Given the description of an element on the screen output the (x, y) to click on. 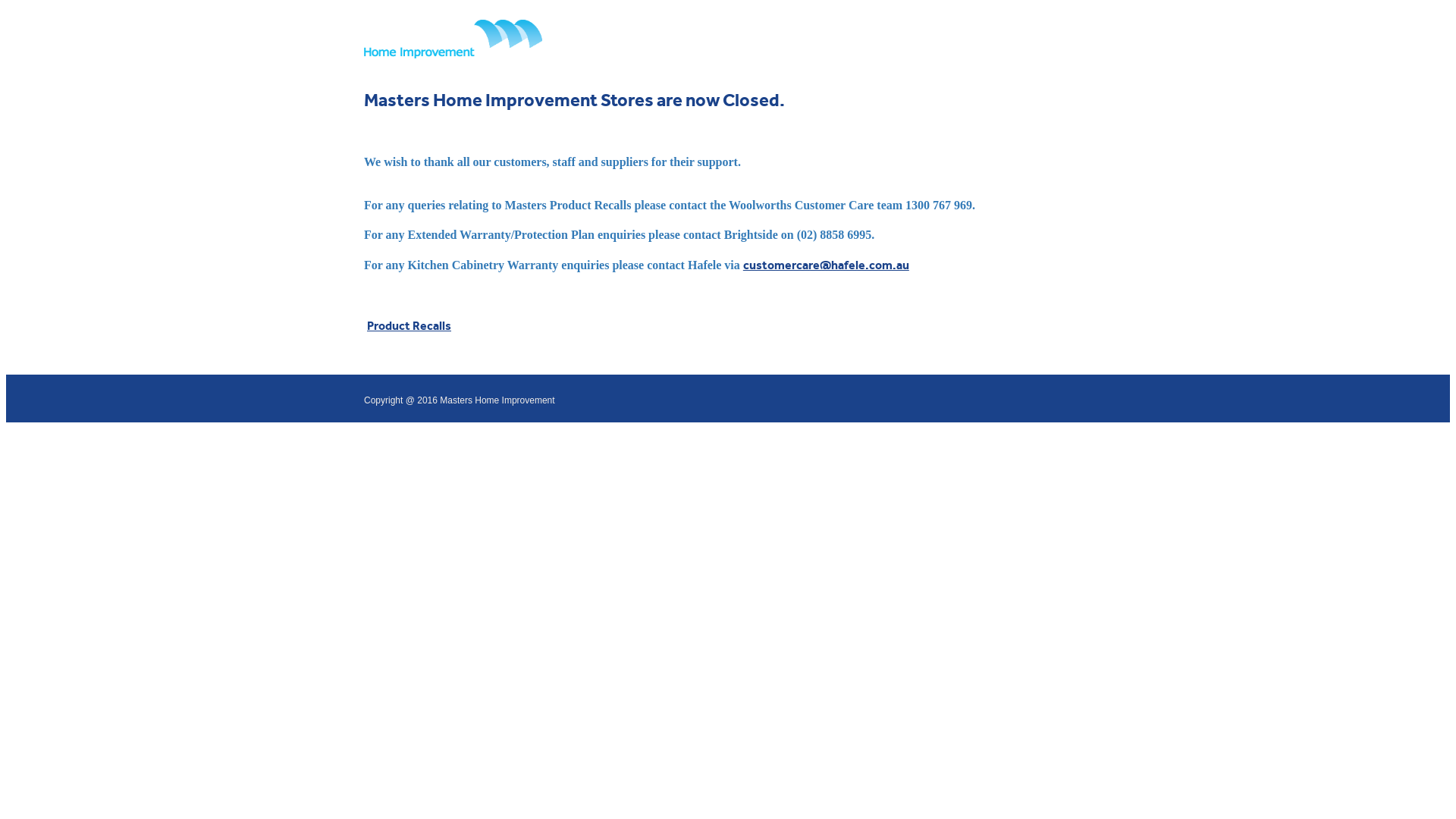
customercare@hafele.com.au Element type: text (826, 264)
Product Recalls Element type: text (409, 325)
